Given the description of an element on the screen output the (x, y) to click on. 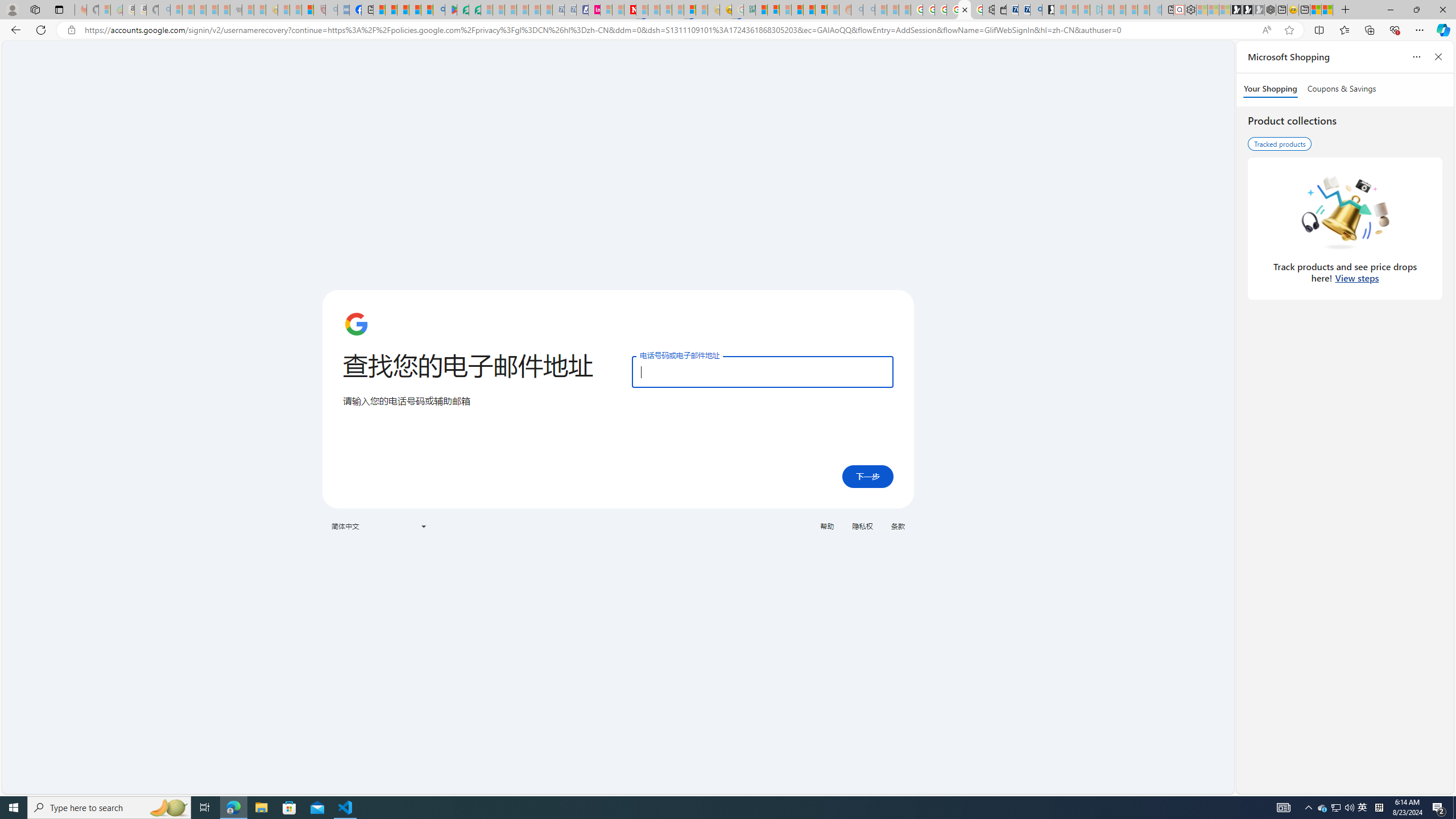
Kinda Frugal - MSN (808, 9)
Wildlife - MSN (1315, 9)
Microsoft Word - consumer-privacy address update 2.2021 (475, 9)
